Given the description of an element on the screen output the (x, y) to click on. 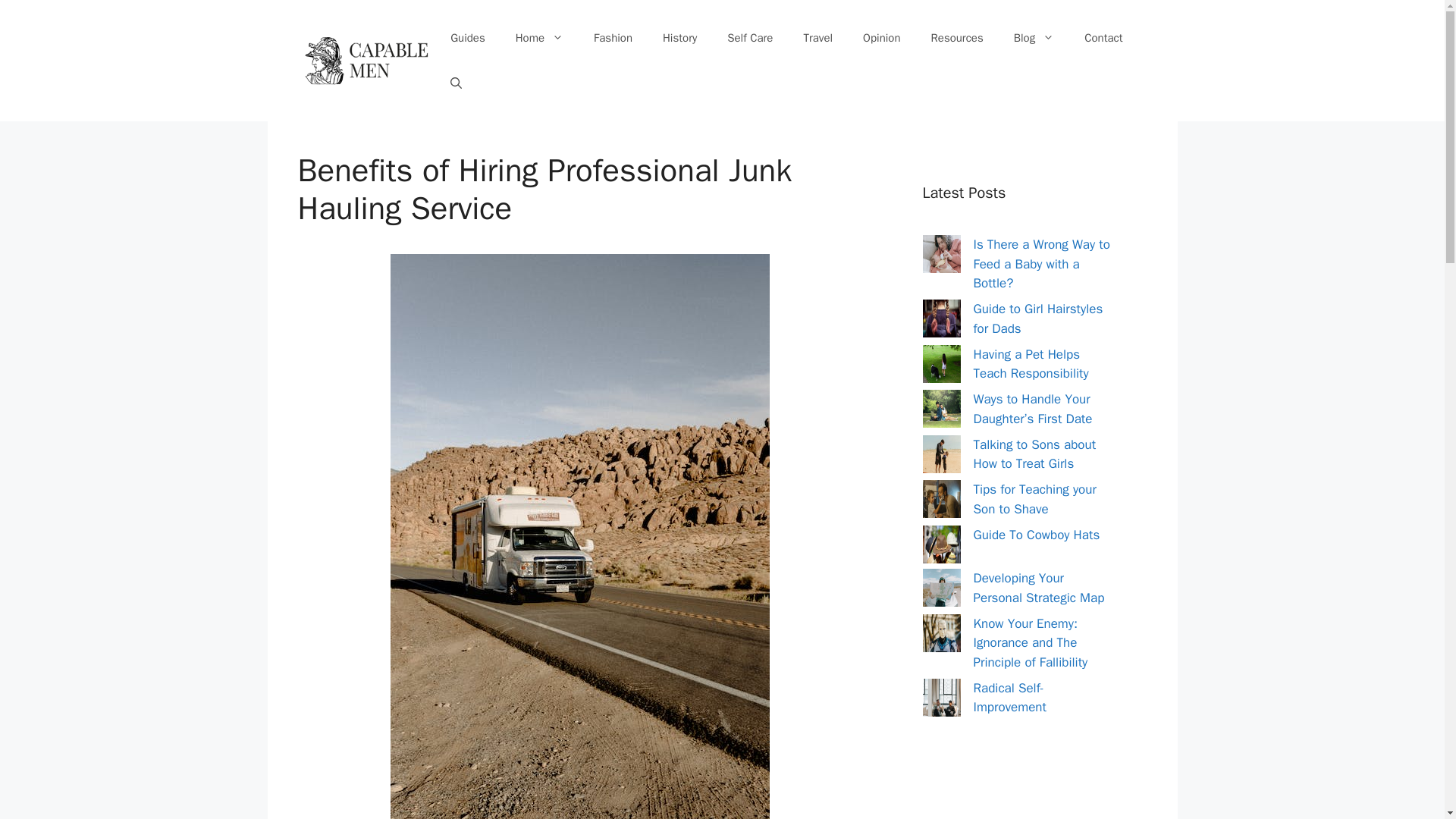
Resources (956, 37)
Talking to Sons about How to Treat Girls (1035, 454)
Blog (1033, 37)
Guide to Girl Hairstyles for Dads (1038, 318)
Fashion (612, 37)
Opinion (881, 37)
Guides (467, 37)
Home (539, 37)
History (679, 37)
Travel (817, 37)
